Given the description of an element on the screen output the (x, y) to click on. 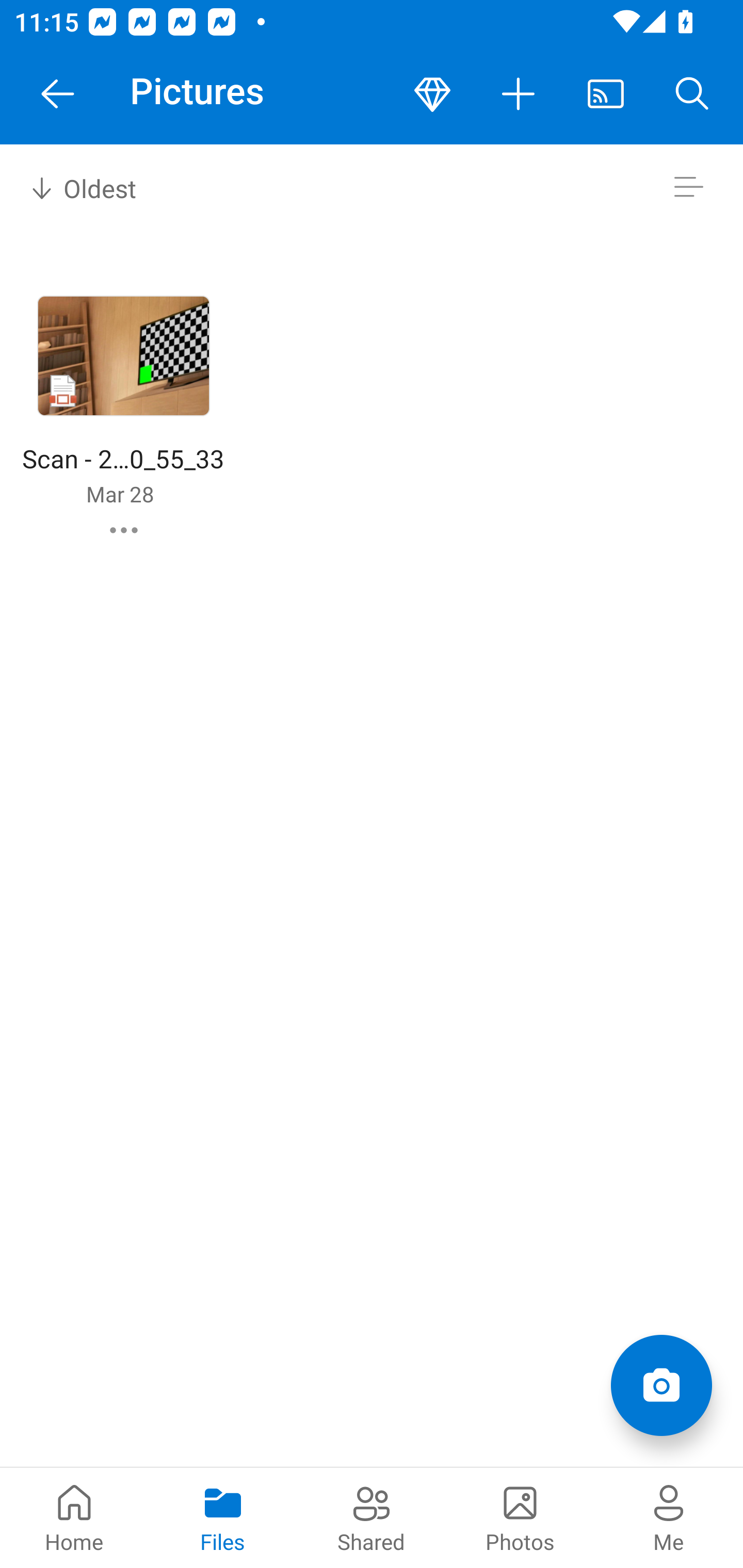
Navigate Up (57, 93)
Cast. Disconnected (605, 93)
Premium button (432, 93)
More actions button (518, 93)
Search button (692, 93)
Oldest Sort by combo box, sort by oldest (80, 187)
Switch to list view (688, 187)
Mar 28 (120, 493)
Scan - 2024-03-28 10_55_33 commands (123, 529)
Add items Scan (660, 1385)
Home pivot Home (74, 1517)
Shared pivot Shared (371, 1517)
Photos pivot Photos (519, 1517)
Me pivot Me (668, 1517)
